Given the description of an element on the screen output the (x, y) to click on. 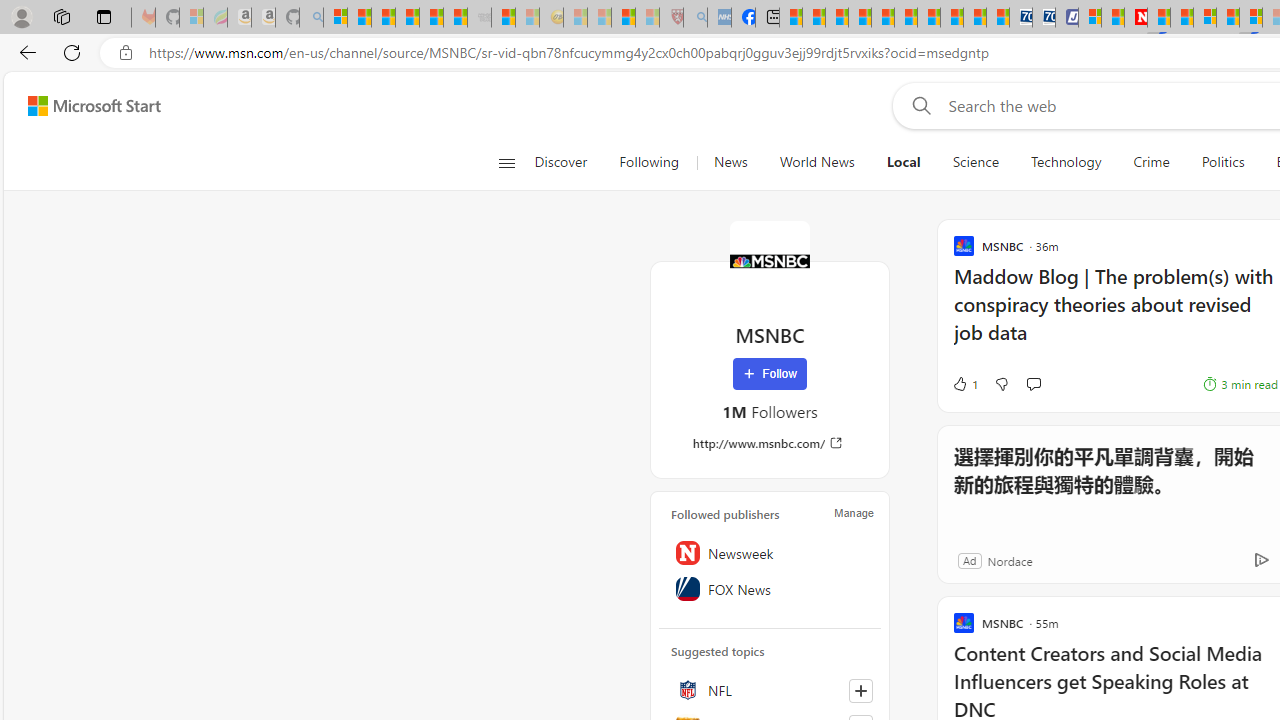
12 Popular Science Lies that Must be Corrected - Sleeping (647, 17)
Cheap Hotels - Save70.com (1043, 17)
